Given the description of an element on the screen output the (x, y) to click on. 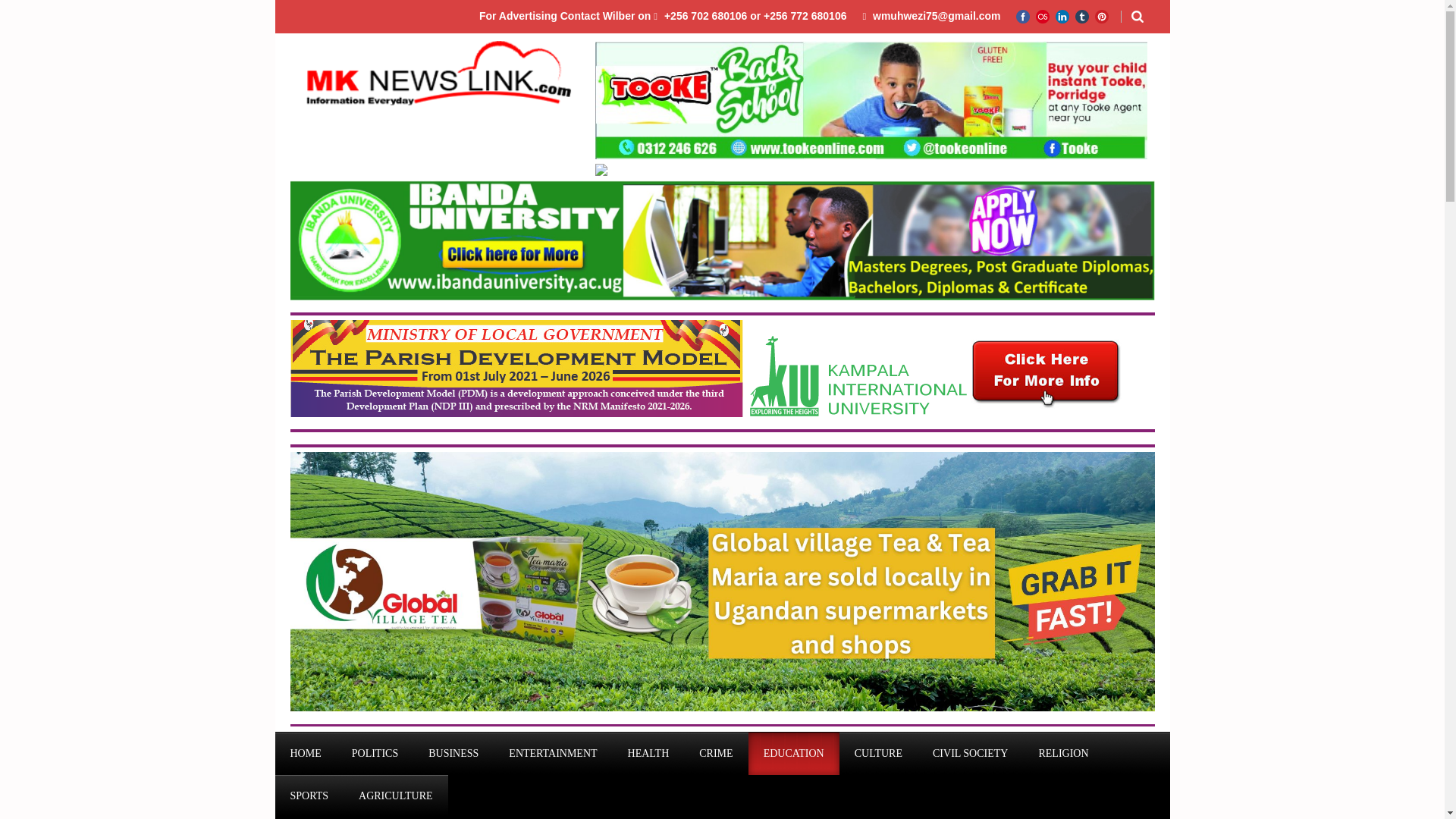
CIVIL SOCIETY (970, 753)
POLITICS (374, 753)
CULTURE (878, 753)
HEALTH (648, 753)
EDUCATION (794, 753)
CRIME (716, 753)
AGRICULTURE (395, 795)
RELIGION (1063, 753)
HOME (305, 753)
SPORTS (309, 795)
